Given the description of an element on the screen output the (x, y) to click on. 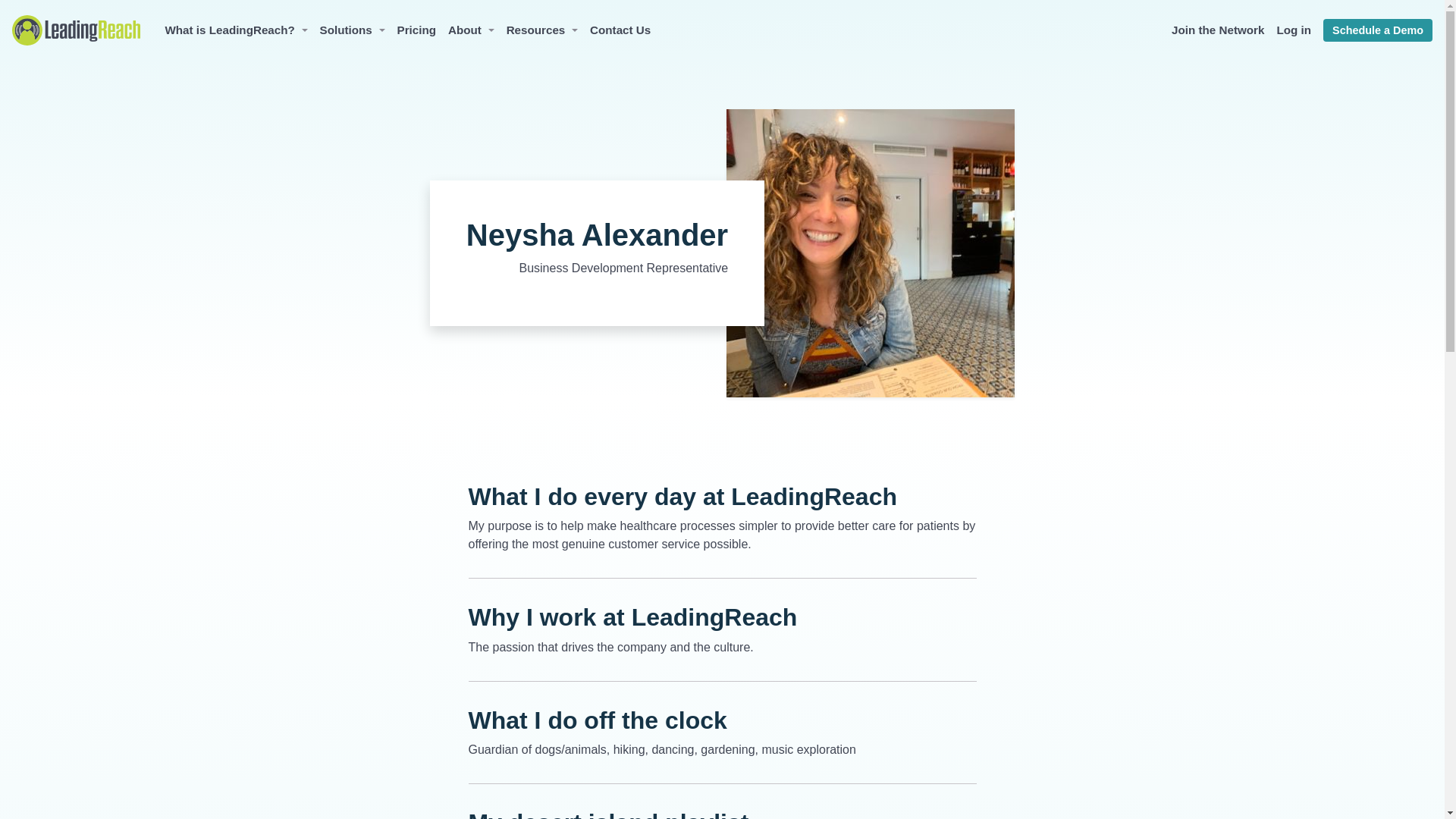
Pricing (416, 29)
Solutions (352, 29)
What is LeadingReach? (235, 29)
Resources (542, 29)
About (471, 29)
IMG 0373 (870, 252)
Leading Reach, Inc. Logo (75, 30)
